Given the description of an element on the screen output the (x, y) to click on. 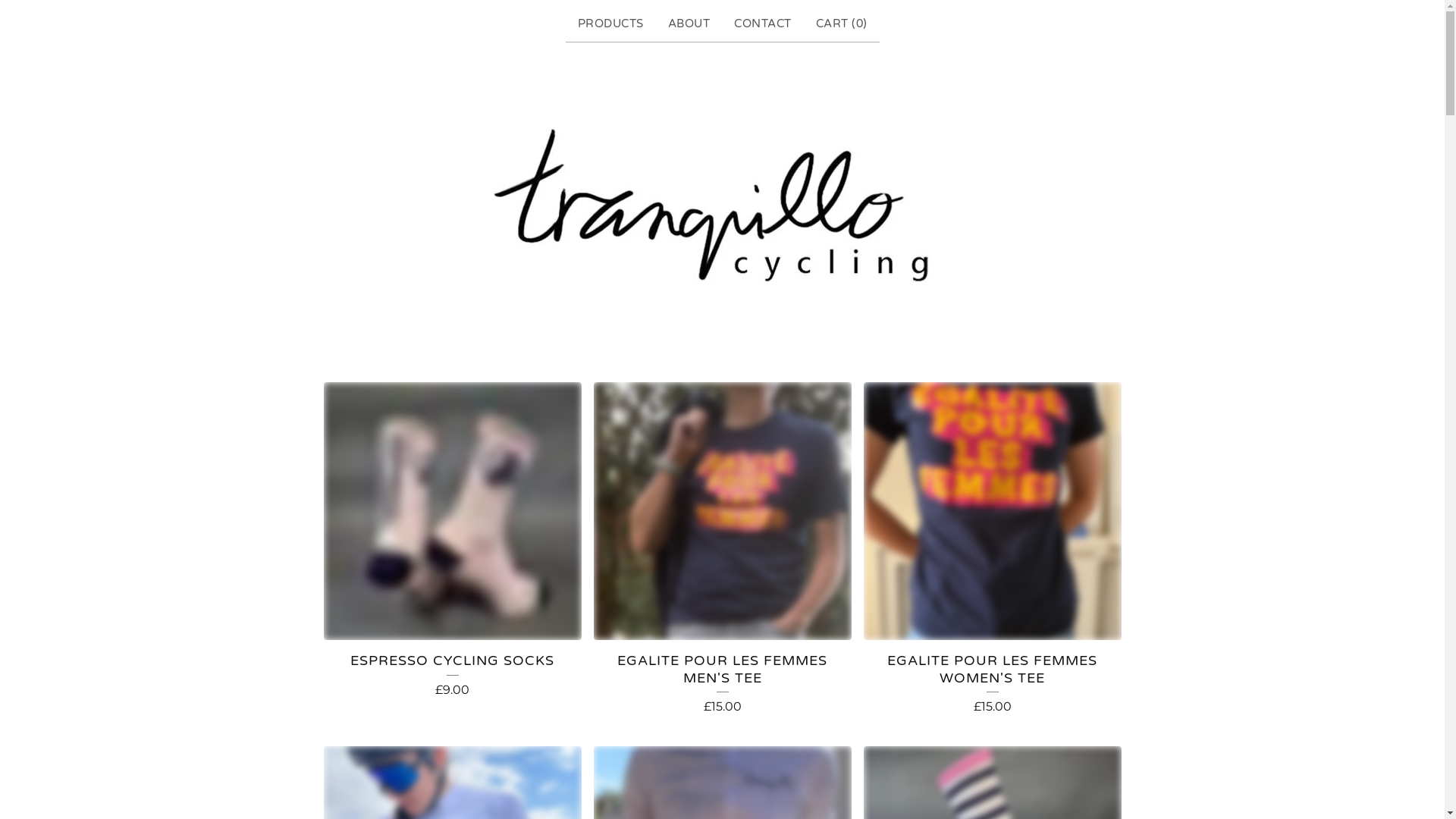
Home Element type: hover (722, 204)
CART (0) Element type: text (841, 23)
CONTACT Element type: text (762, 23)
PRODUCTS Element type: text (610, 23)
ABOUT Element type: text (688, 23)
